Given the description of an element on the screen output the (x, y) to click on. 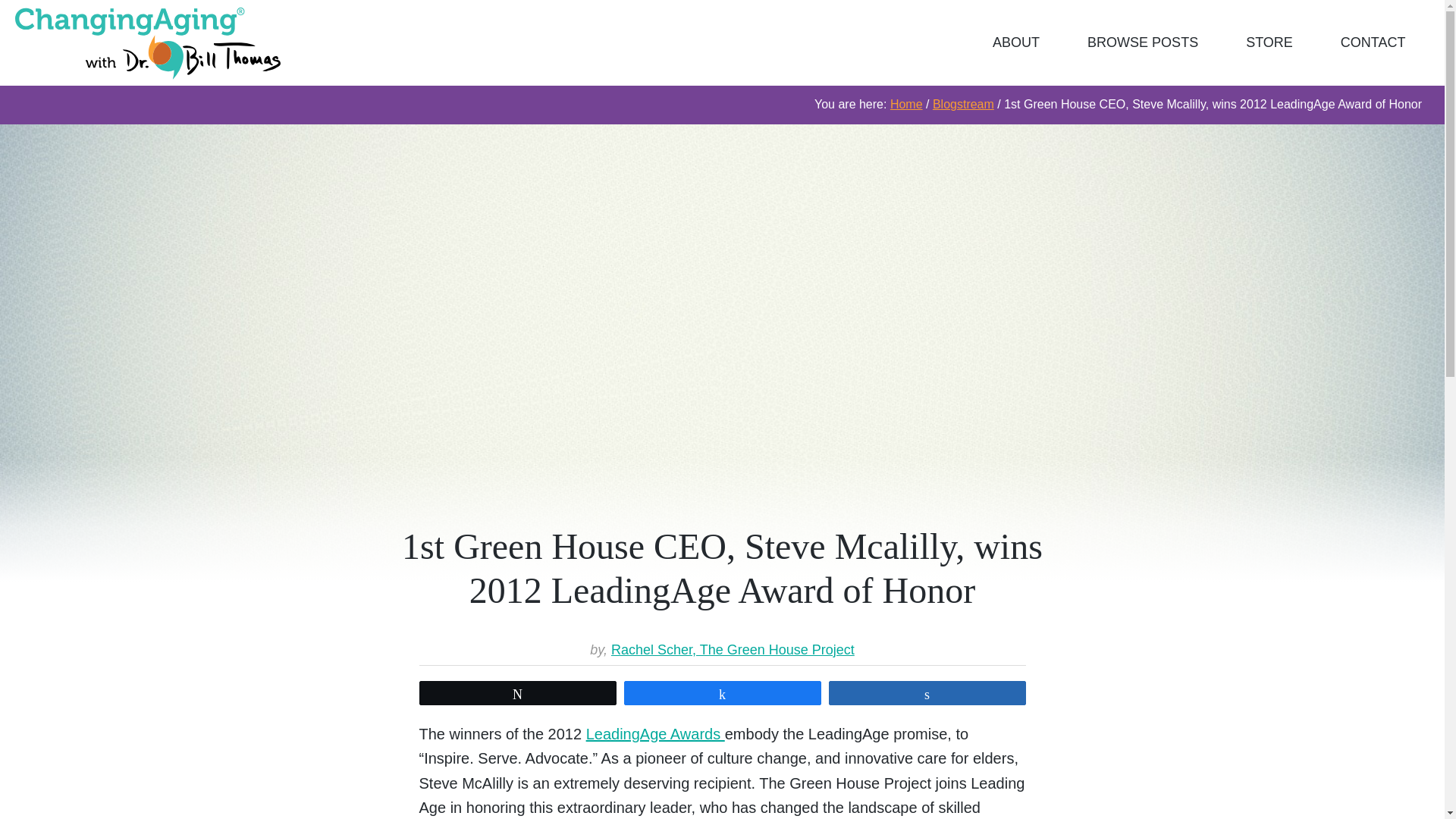
Find Out More (1372, 42)
BROWSE POSTS (1143, 42)
Home (906, 103)
Our Team (1016, 42)
Rachel Scher, The Green House Project (732, 649)
Posts by Rachel Scher, The Green House Project (732, 649)
CONTACT (1372, 42)
ABOUT (1016, 42)
STORE (1270, 42)
Blogstream (963, 103)
LeadingAge Awards (655, 733)
